Given the description of an element on the screen output the (x, y) to click on. 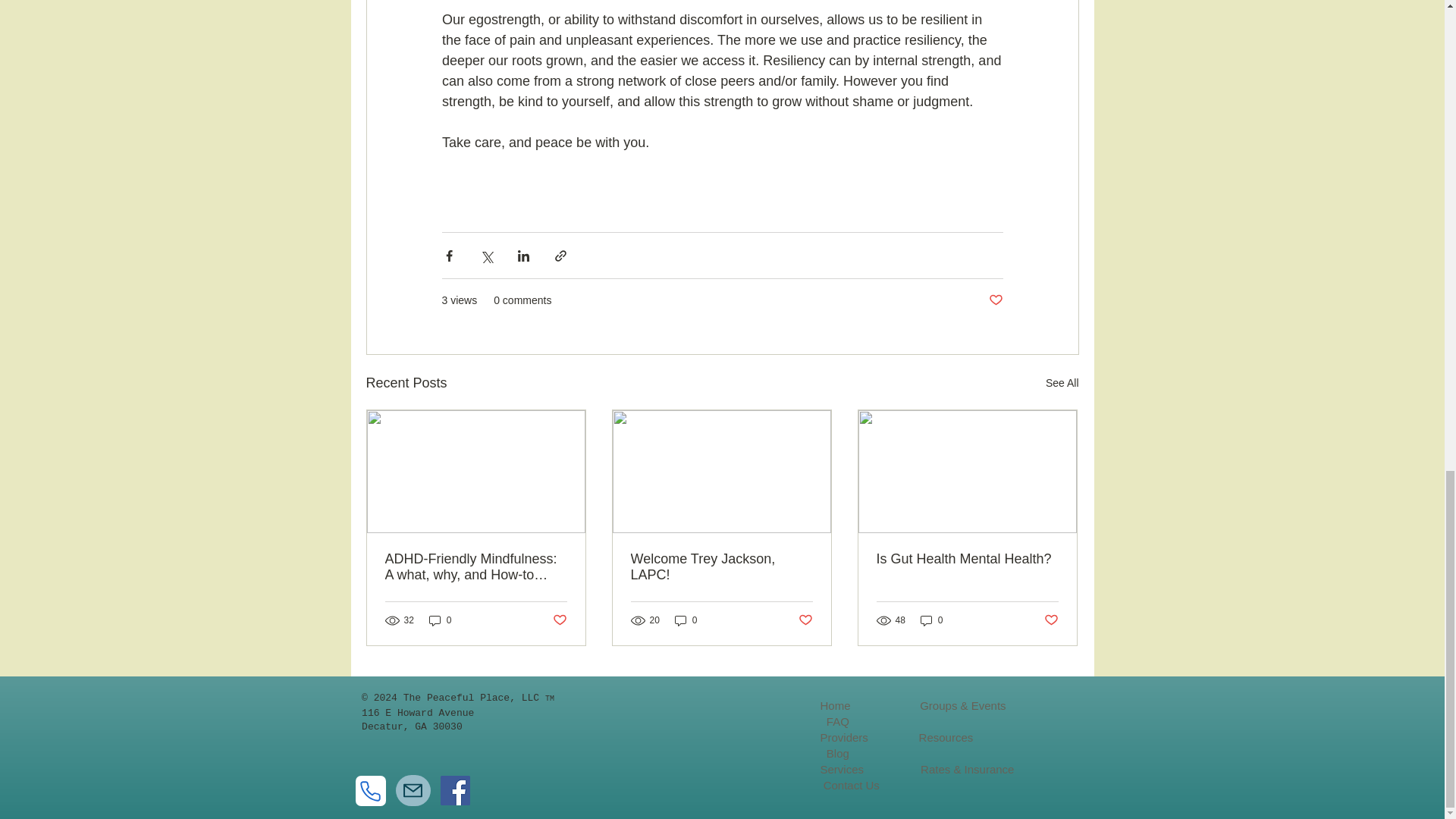
Post not marked as liked (995, 300)
